Given the description of an element on the screen output the (x, y) to click on. 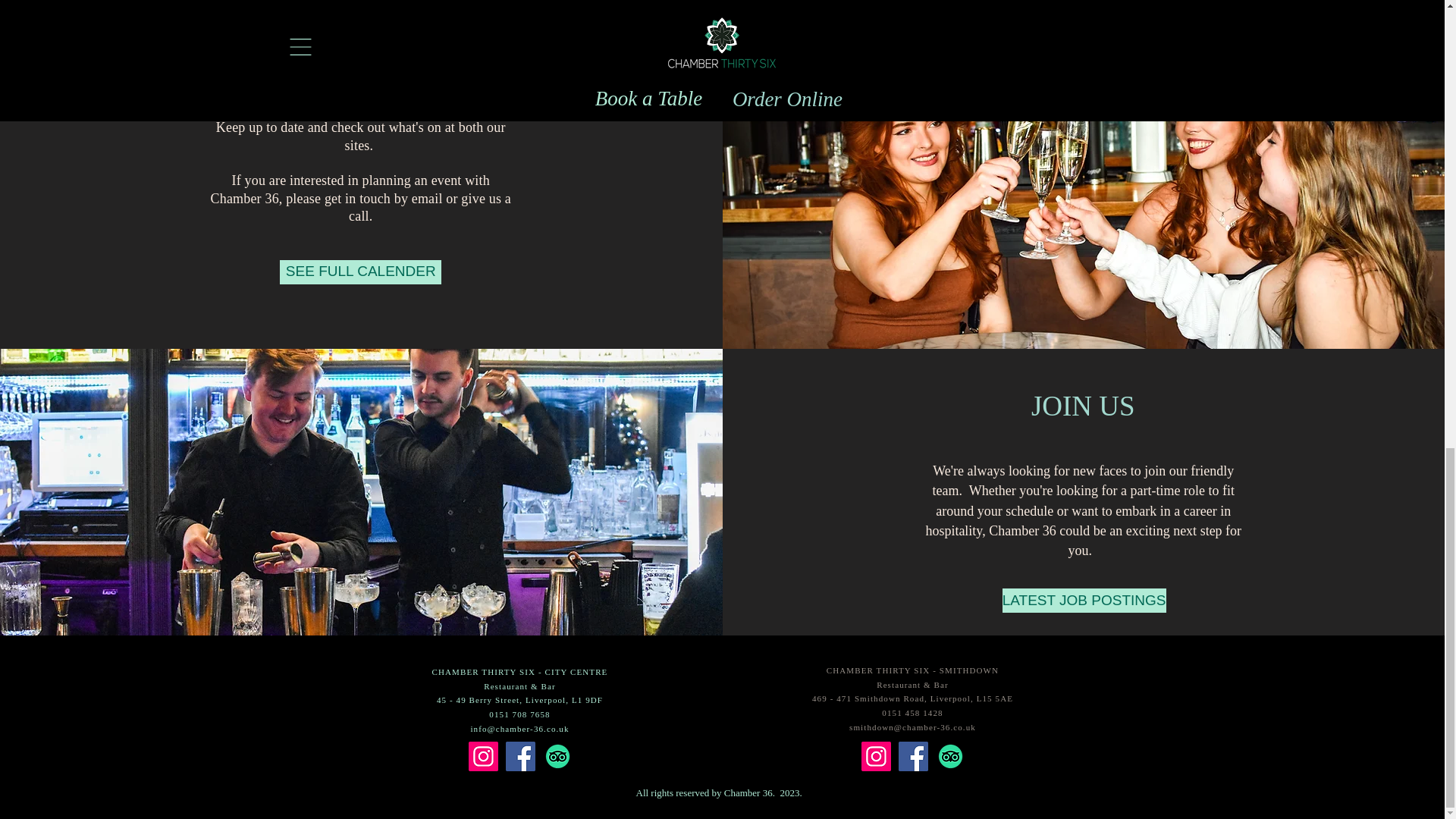
LATEST JOB POSTINGS (1084, 600)
SEE FULL CALENDER (360, 272)
